Given the description of an element on the screen output the (x, y) to click on. 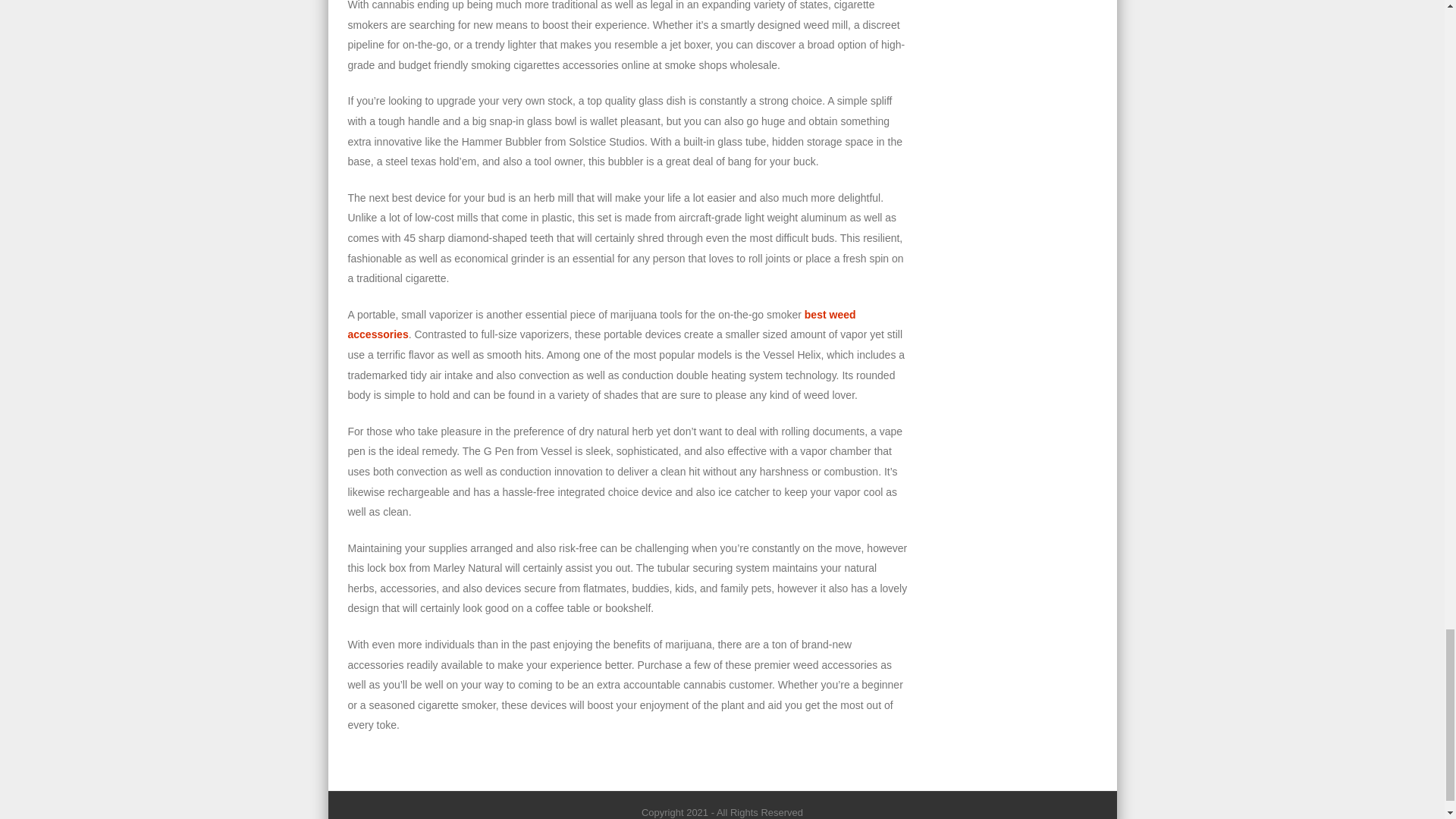
best weed accessories (601, 324)
